Given the description of an element on the screen output the (x, y) to click on. 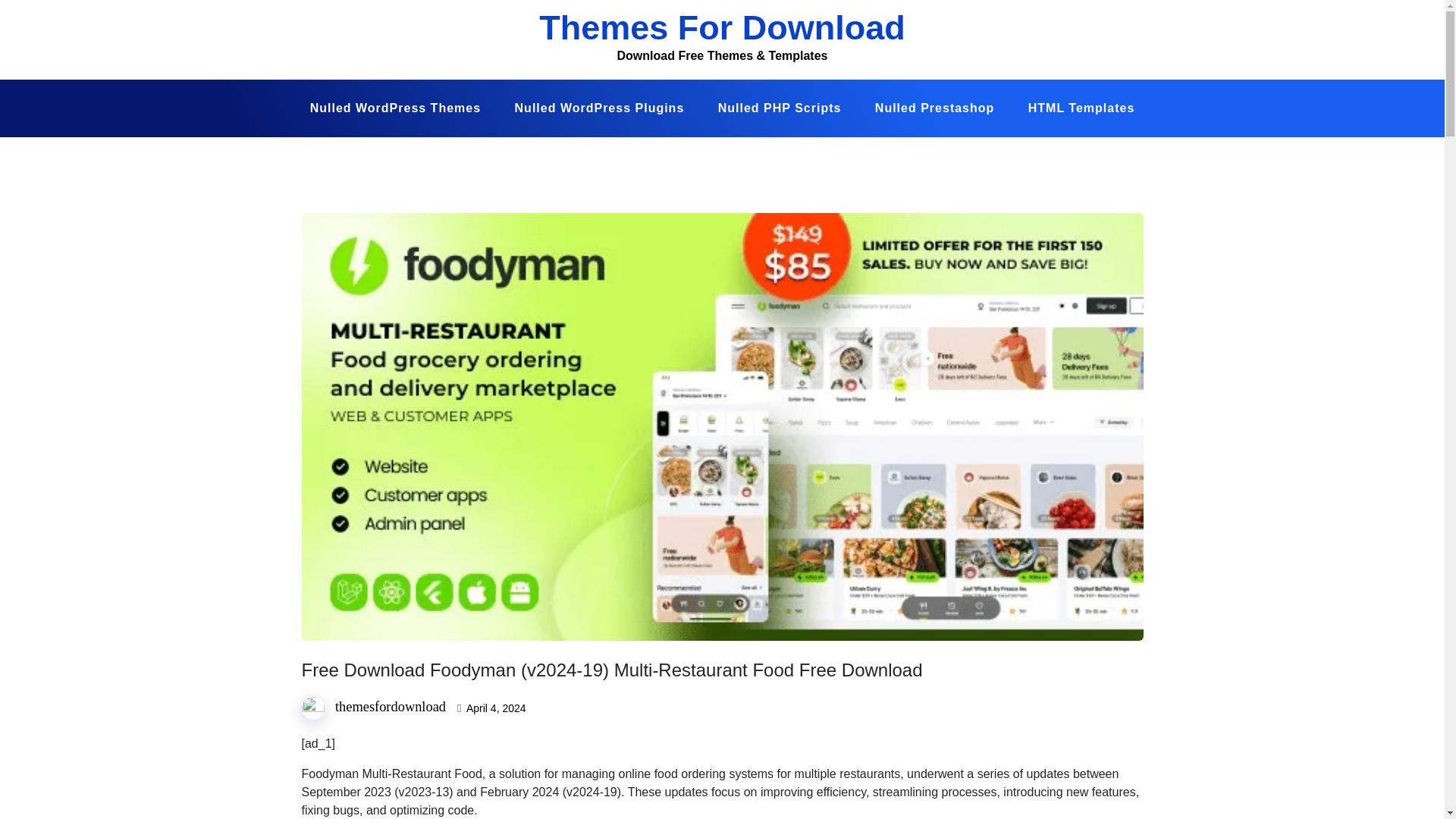
Nulled WordPress Themes (395, 107)
themesfordownload (389, 706)
Nulled PHP Scripts (780, 107)
Themes For Download (721, 27)
Nulled WordPress Plugins (599, 107)
HTML Templates (1081, 107)
April 4, 2024 (495, 708)
Themes For Download (721, 27)
Nulled Prestashop (934, 107)
